Given the description of an element on the screen output the (x, y) to click on. 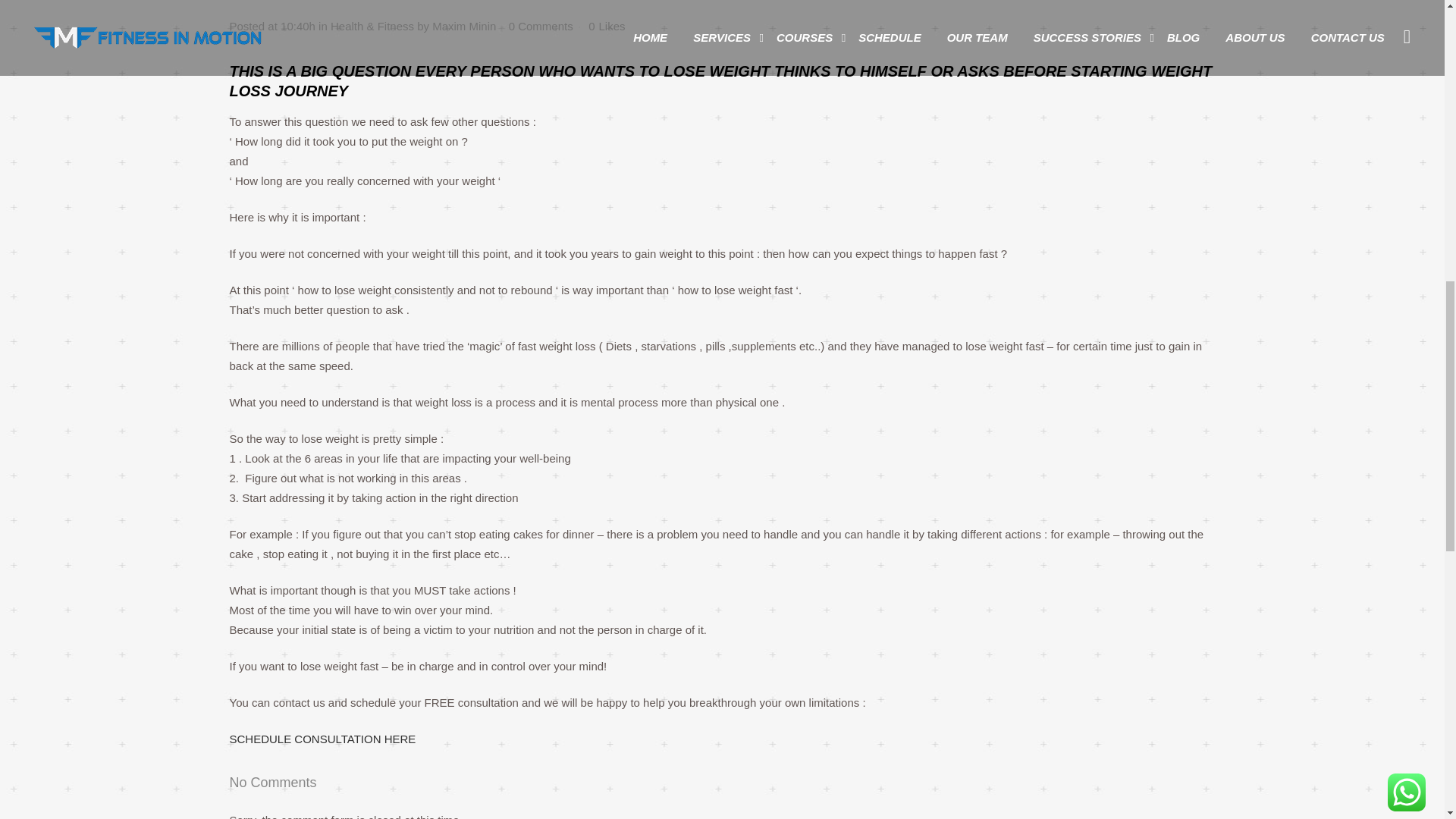
Like this (606, 26)
